Given the description of an element on the screen output the (x, y) to click on. 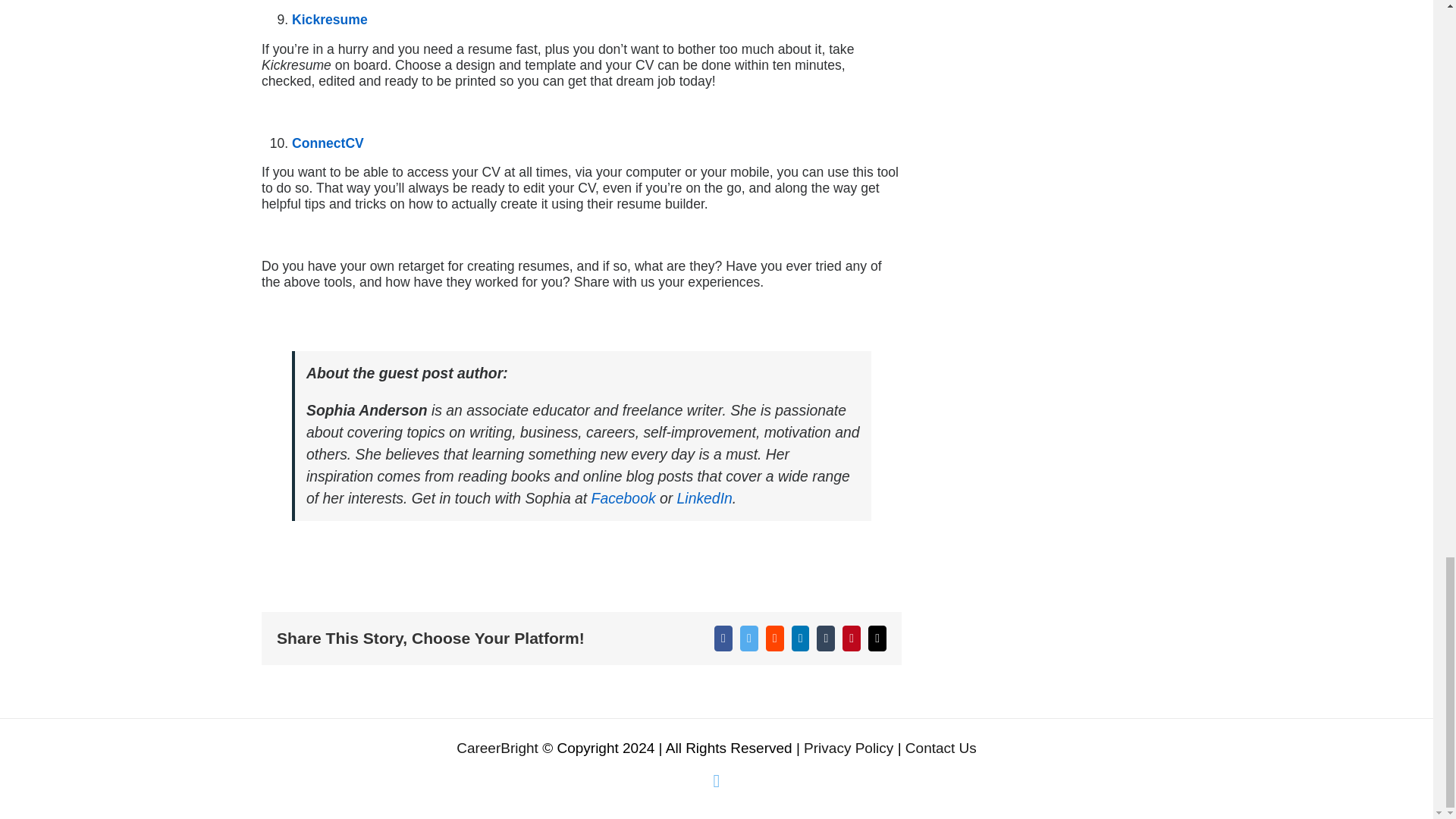
LinkedIn (704, 497)
Facebook (623, 497)
ConnectCV (328, 142)
Kickresume (330, 19)
